Given the description of an element on the screen output the (x, y) to click on. 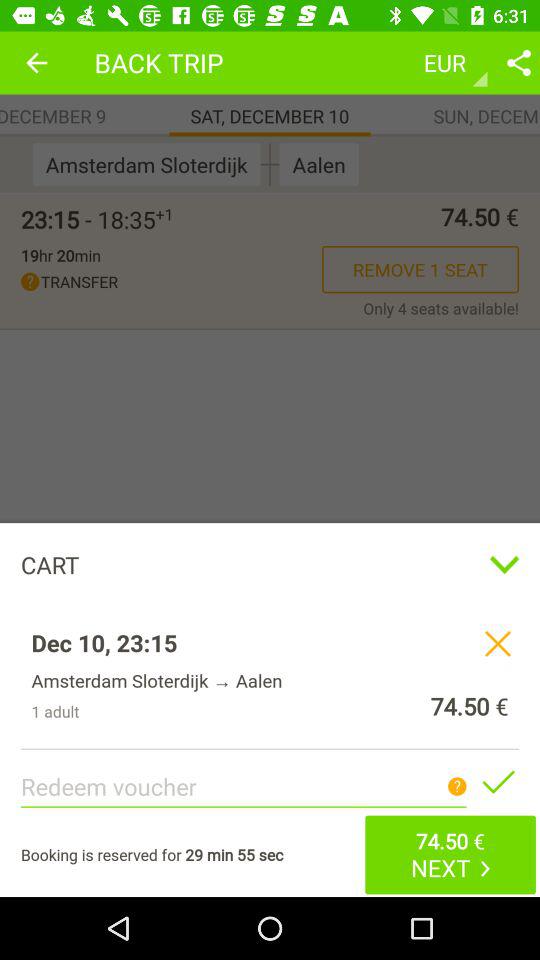
choose the item next to the remove 1 seat icon (60, 255)
